Given the description of an element on the screen output the (x, y) to click on. 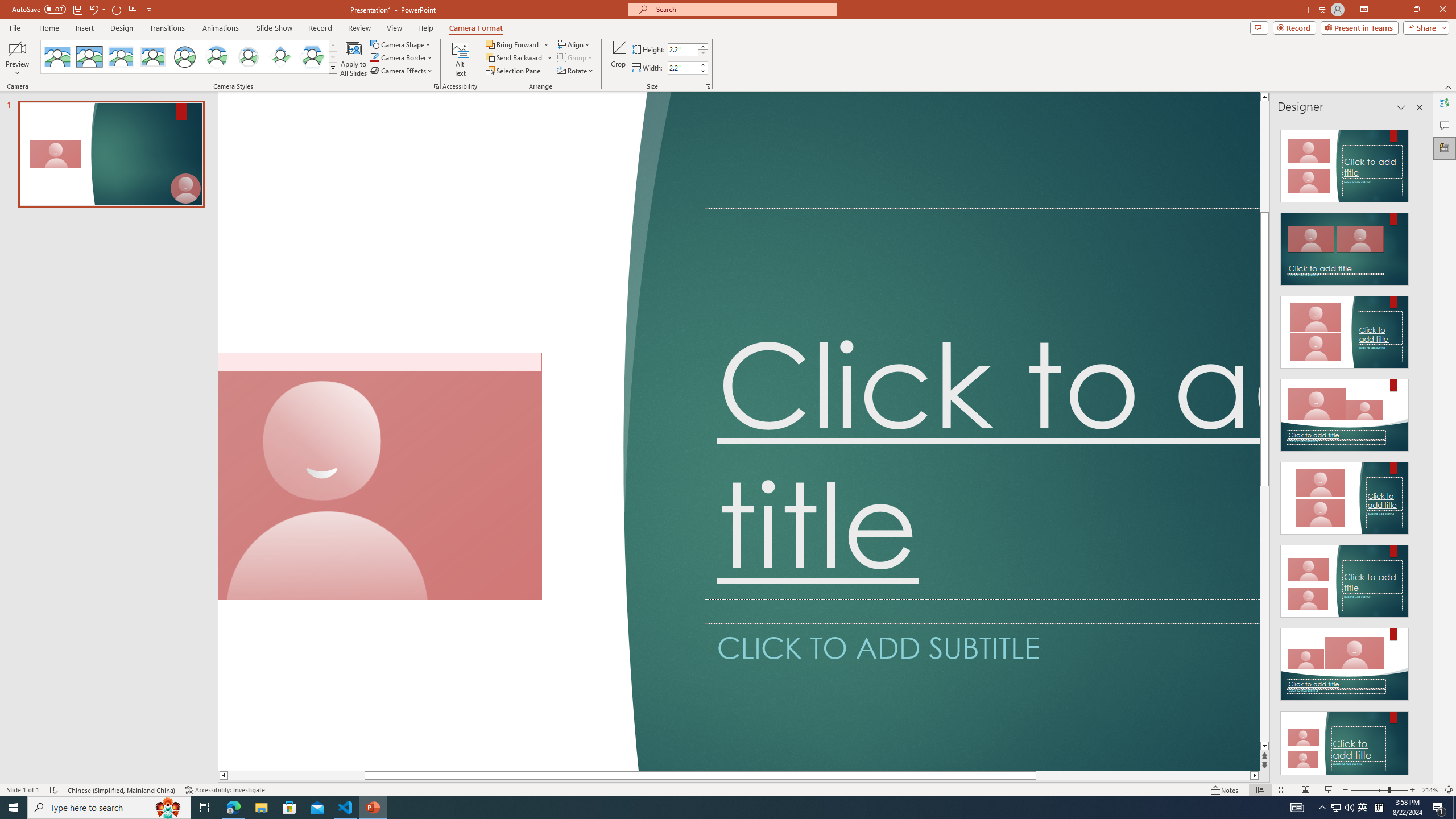
Crop (617, 58)
Decorative Locked (436, 430)
Recommended Design: Design Idea (1344, 162)
Camera Border Blue, Accent 1 (374, 56)
